Given the description of an element on the screen output the (x, y) to click on. 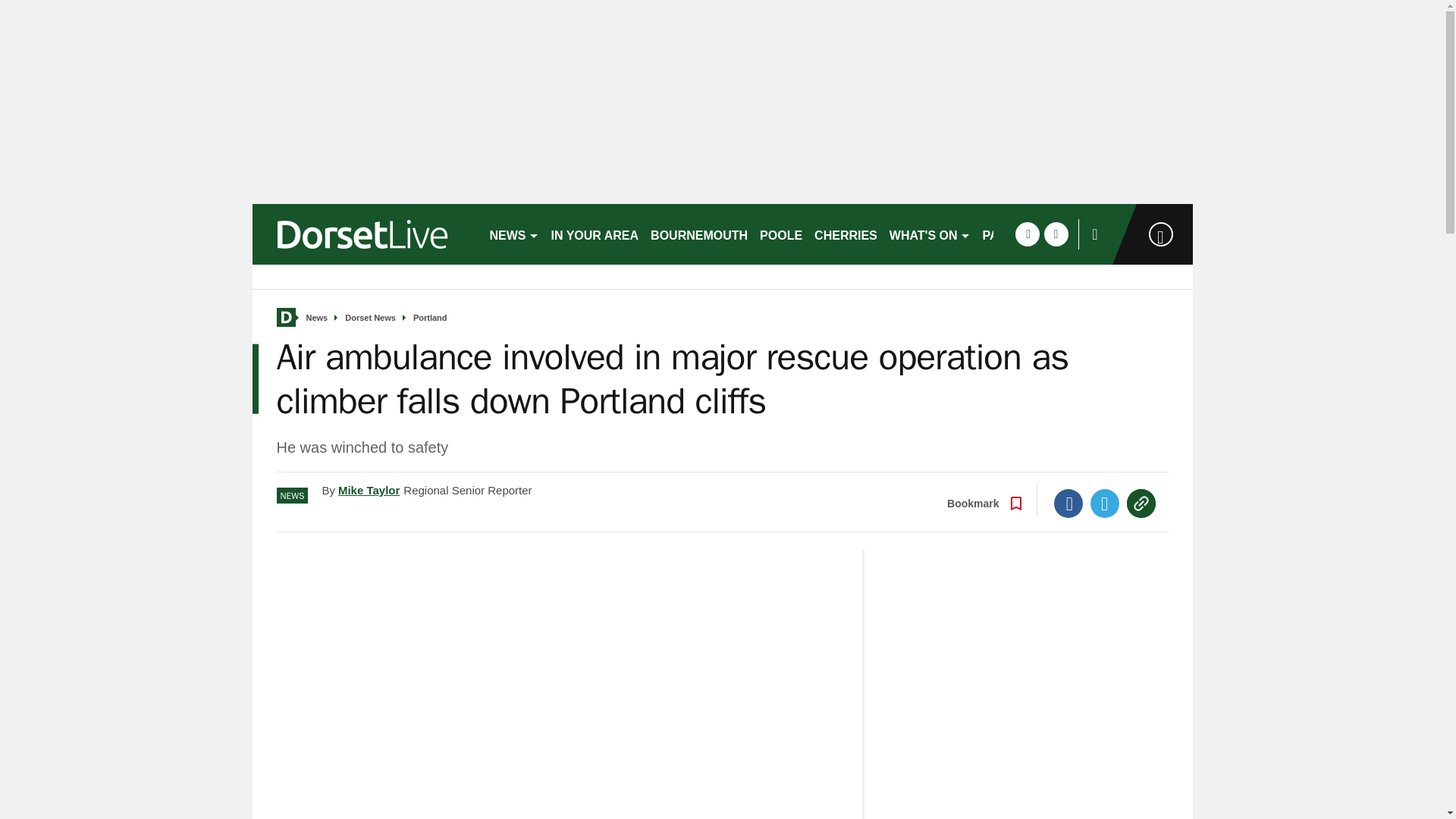
dorsetlive (363, 233)
Twitter (1104, 502)
CHERRIES (845, 233)
IN YOUR AREA (594, 233)
twitter (1055, 233)
NEWS (513, 233)
BOURNEMOUTH (699, 233)
Facebook (1068, 502)
POOLE (781, 233)
facebook (1026, 233)
